Given the description of an element on the screen output the (x, y) to click on. 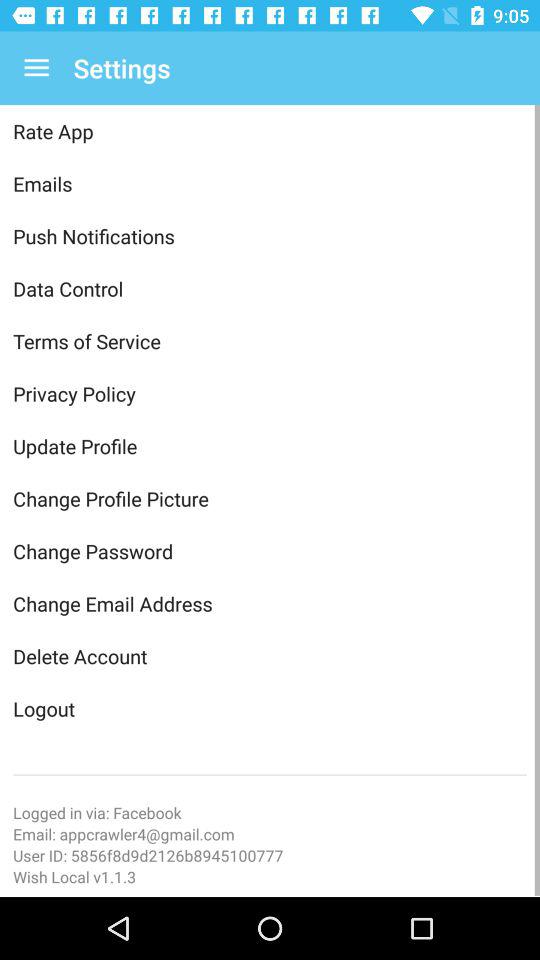
select delete account (269, 656)
